Given the description of an element on the screen output the (x, y) to click on. 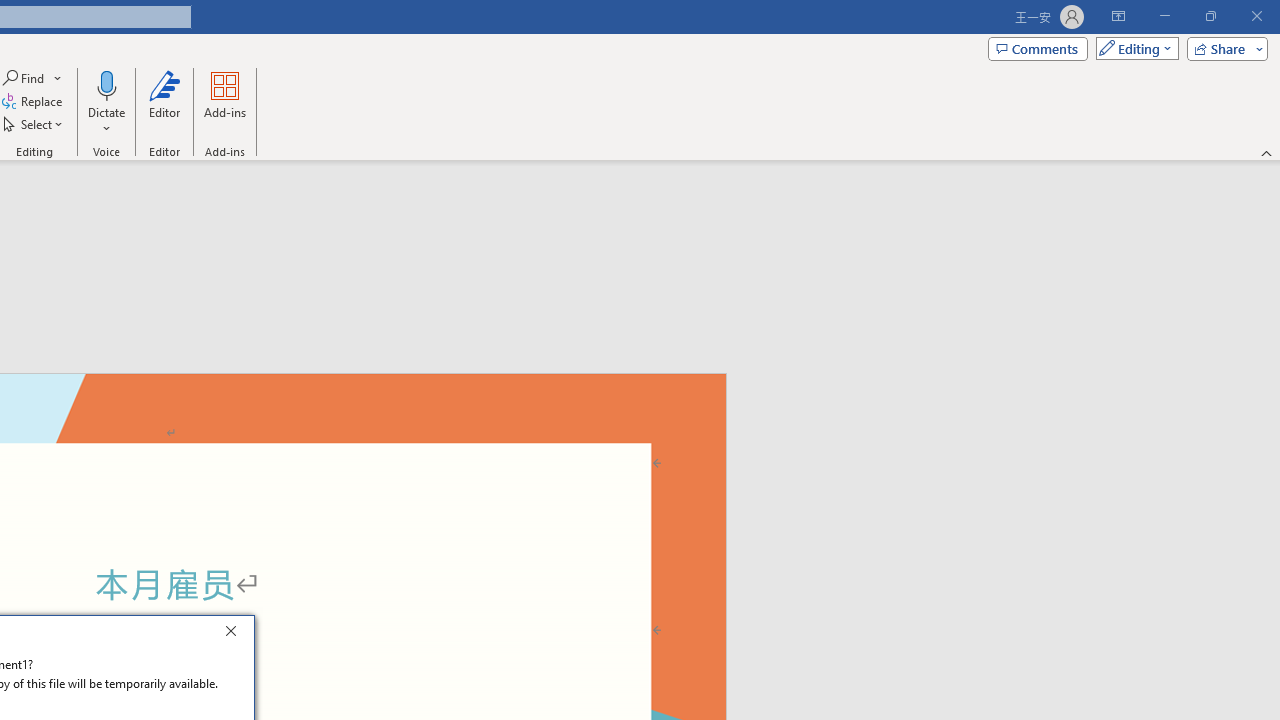
Mode (1133, 47)
